Given the description of an element on the screen output the (x, y) to click on. 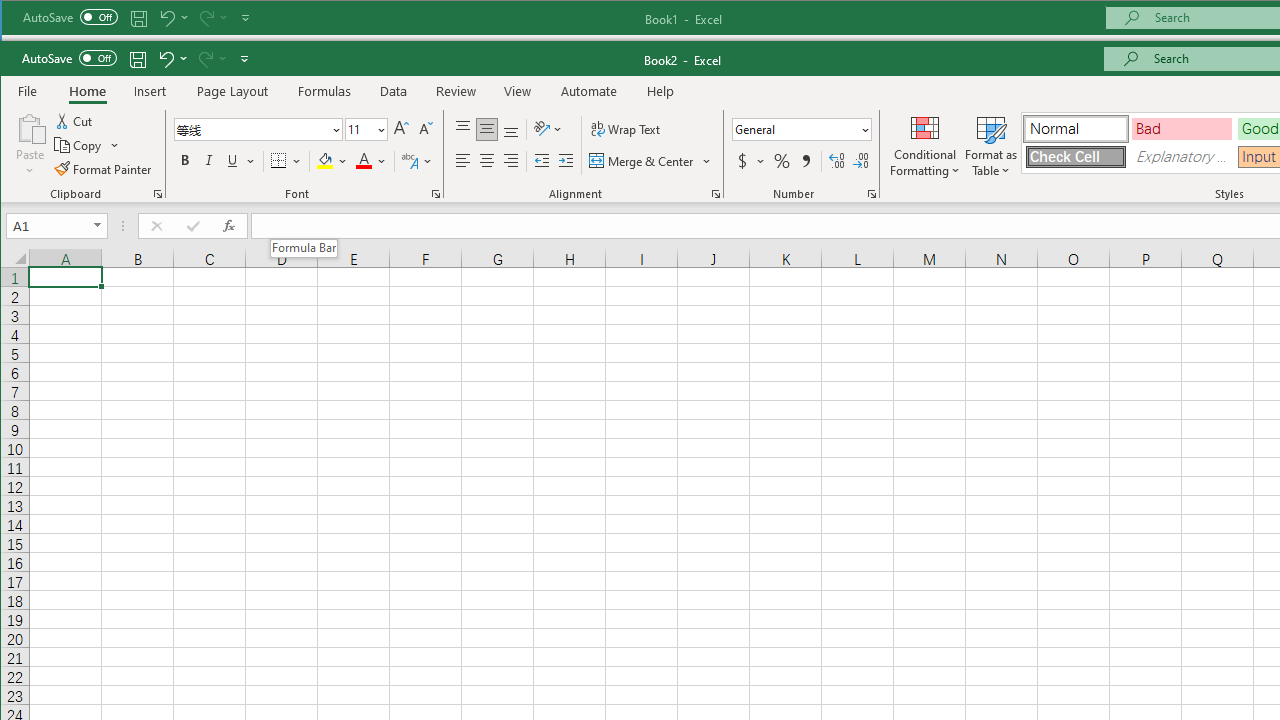
Italic (209, 160)
Font (258, 129)
Show Phonetic Field (410, 160)
Number Format (795, 129)
Review (456, 91)
Format Cell Font (435, 193)
Font Size (366, 129)
Accounting Number Format (742, 160)
Show Phonetic Field (417, 160)
Office Clipboard... (157, 193)
Font Color RGB(255, 0, 0) (364, 160)
Bold (184, 160)
Orientation (549, 129)
